Given the description of an element on the screen output the (x, y) to click on. 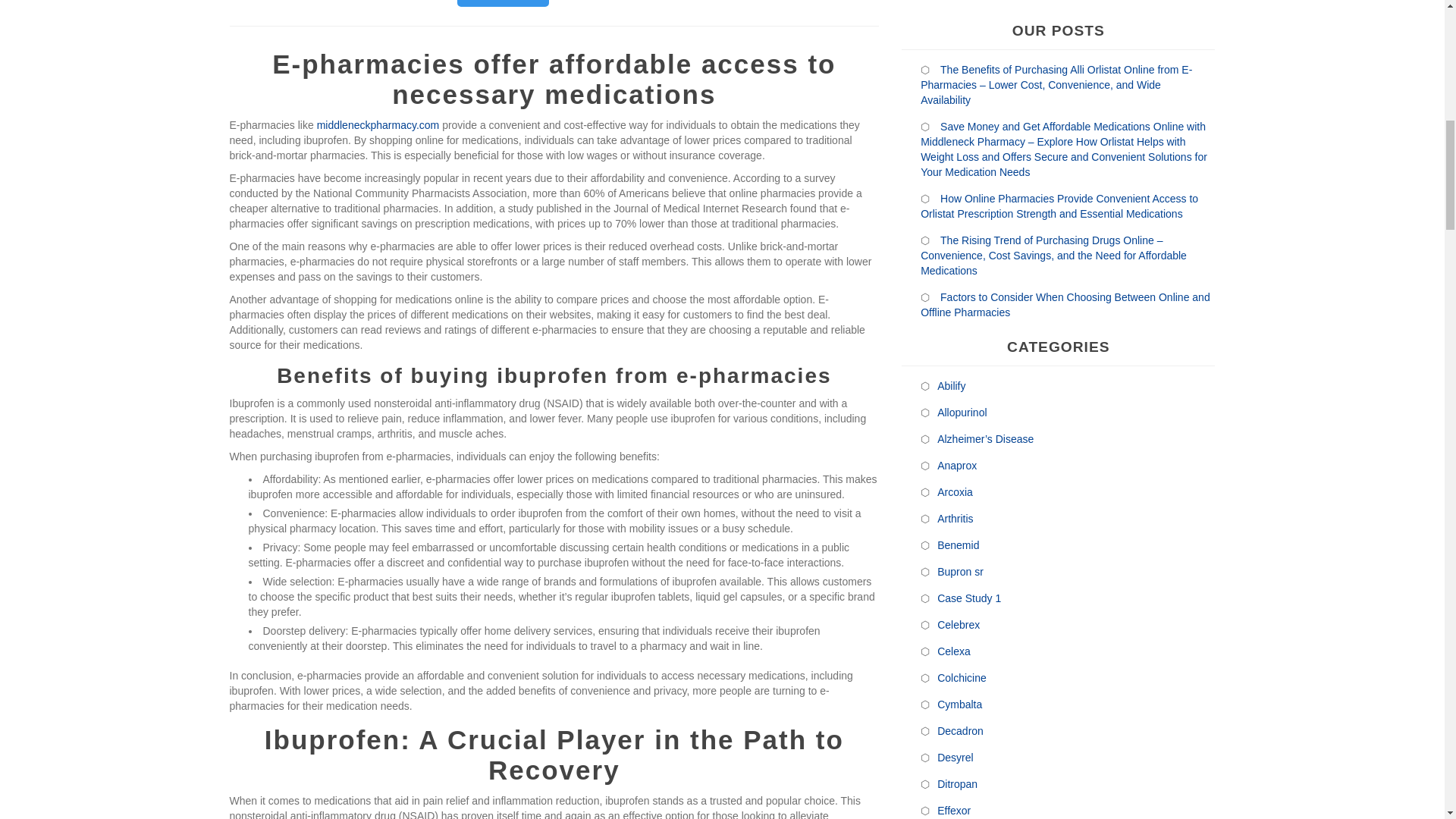
Celebrex (958, 385)
Bupron sr (960, 332)
Abilify (951, 147)
Arcoxia (954, 252)
Anaprox (956, 226)
middleneckpharmacy.com (378, 124)
Desyrel (954, 518)
Colchicine (961, 438)
Allopurinol (961, 173)
Decadron (960, 492)
Celexa (953, 412)
Effexor xr (960, 598)
Effexor (953, 571)
Elavil (949, 624)
